Given the description of an element on the screen output the (x, y) to click on. 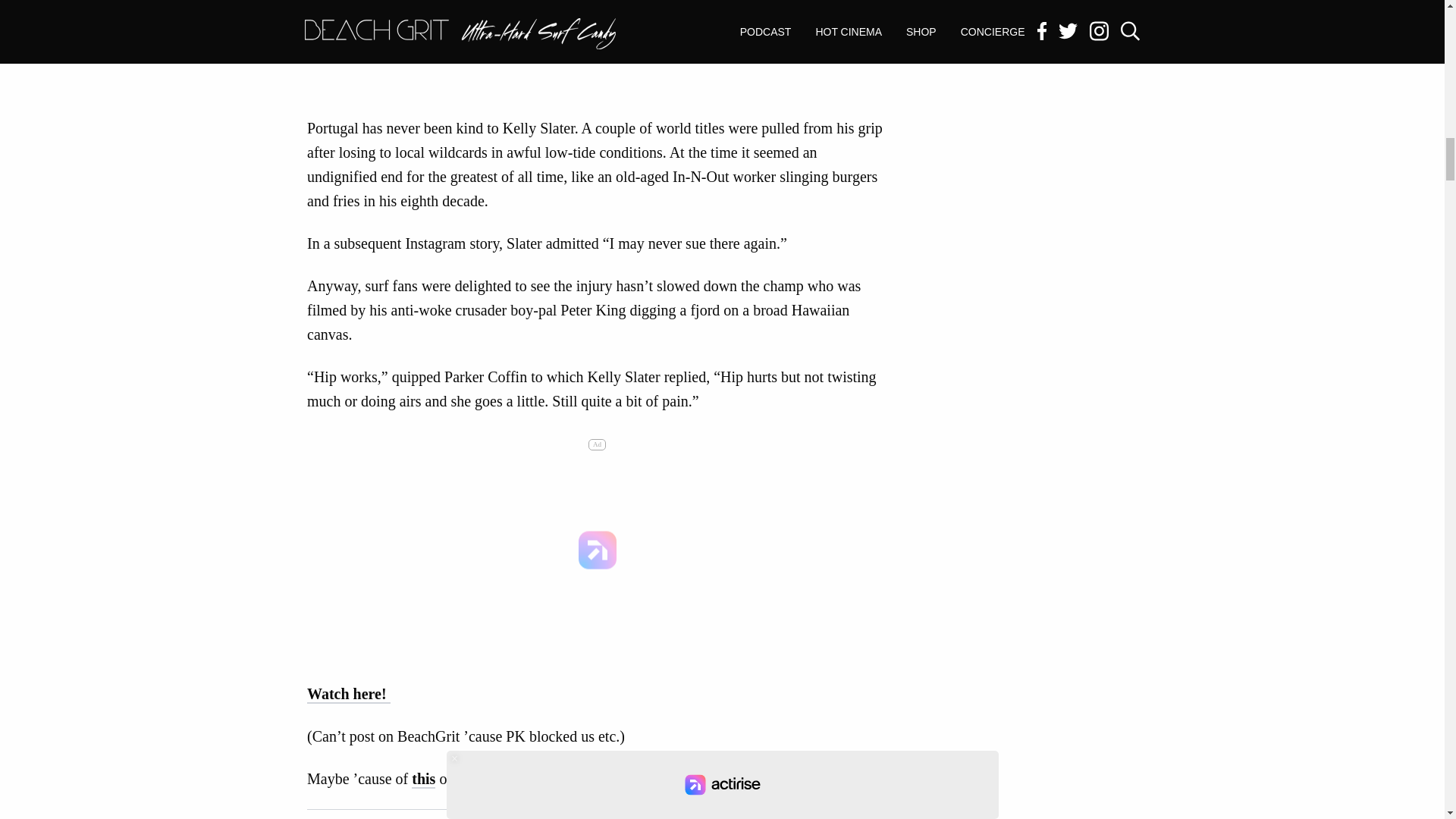
this (529, 779)
Watch here!  (348, 694)
this (423, 779)
this (498, 779)
this (560, 779)
this.  (608, 779)
this, (469, 779)
